Given the description of an element on the screen output the (x, y) to click on. 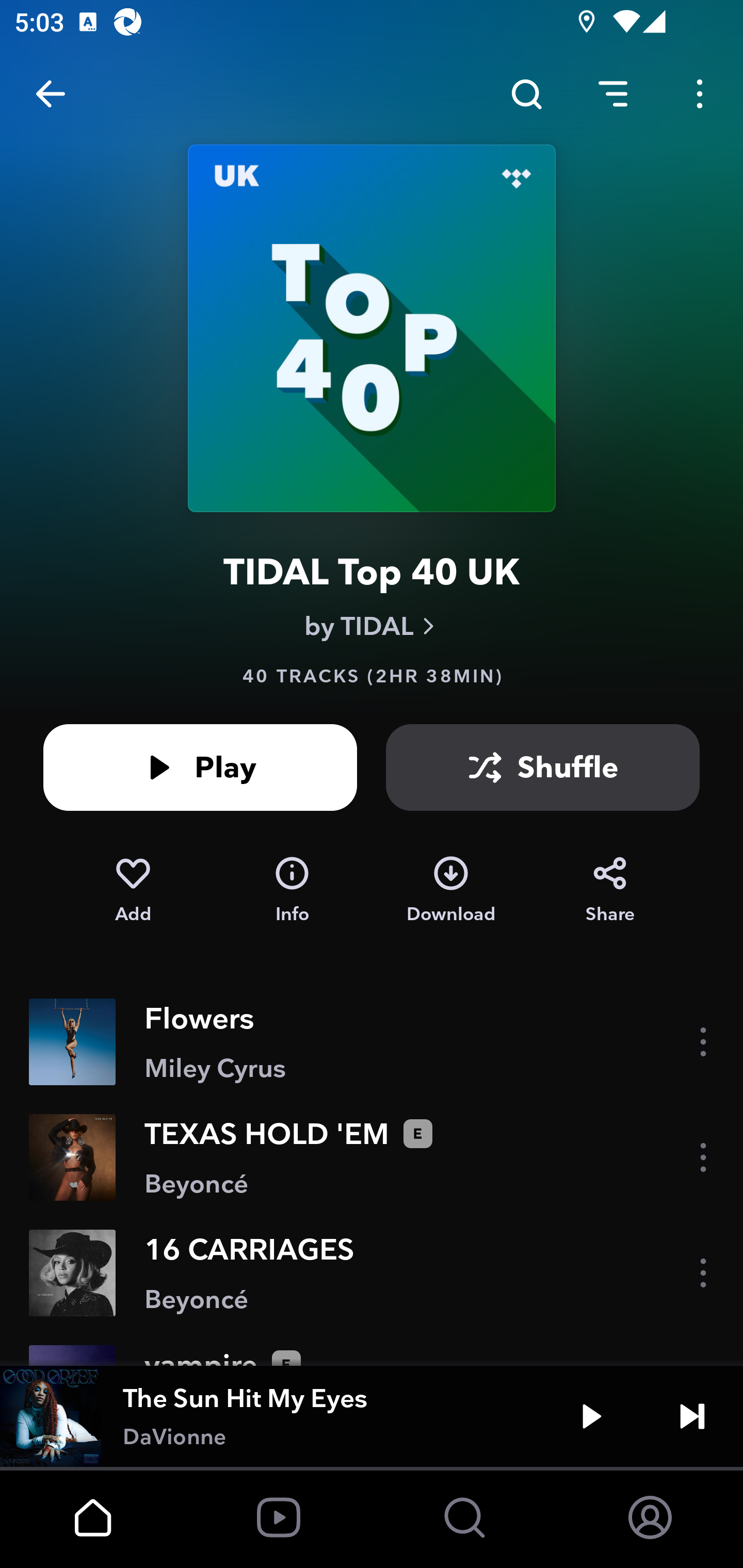
Back (50, 93)
Search (525, 93)
Sorting (612, 93)
Options (699, 93)
by TIDAL (371, 625)
Play (200, 767)
Shuffle (542, 767)
Add (132, 890)
Info (291, 890)
Download (450, 890)
Share (609, 890)
Flowers Miley Cyrus (371, 1041)
TEXAS HOLD 'EM Beyoncé (371, 1157)
16 CARRIAGES Beyoncé (371, 1273)
The Sun Hit My Eyes DaVionne Play (371, 1416)
Play (590, 1416)
